Given the description of an element on the screen output the (x, y) to click on. 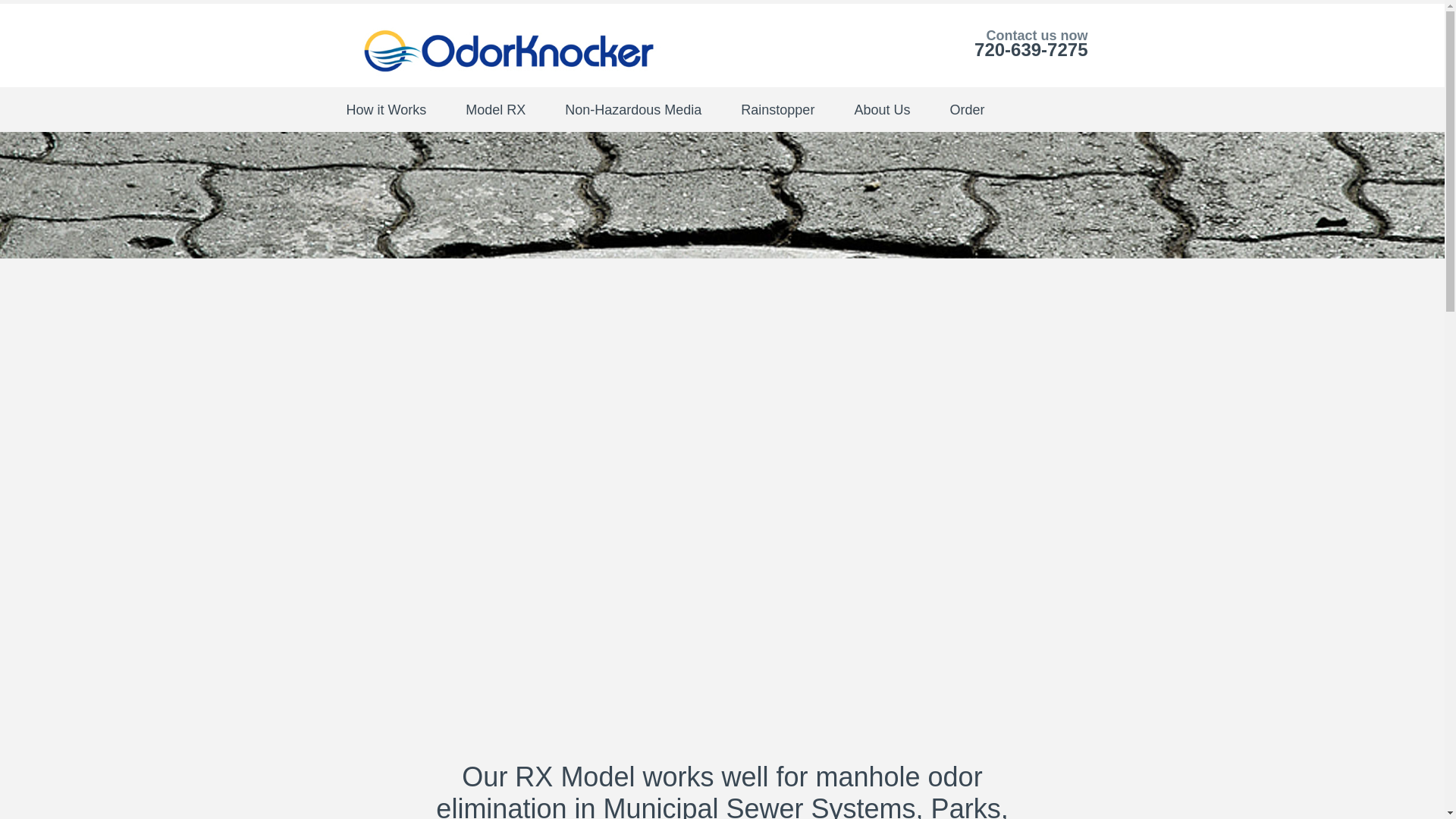
Odorknocker (507, 44)
720-639-7275  (1030, 49)
Non-Hazardous Media (646, 109)
720-639-7275 (1030, 49)
About Us (895, 109)
How it Works (398, 109)
Model RX (508, 109)
Order (980, 109)
Rainstopper (790, 109)
Odorknocker (507, 50)
